Given the description of an element on the screen output the (x, y) to click on. 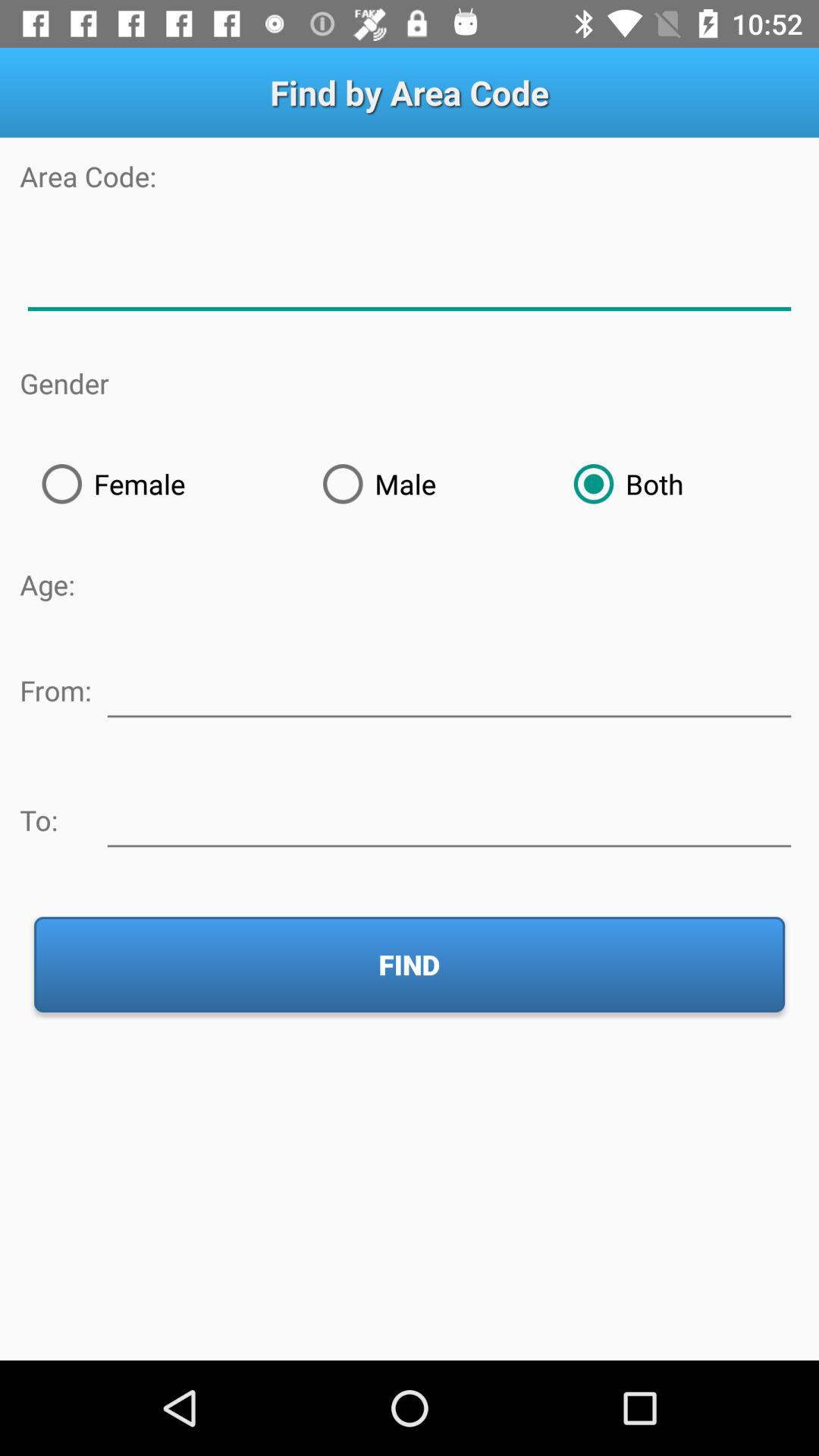
this option code of the area (409, 279)
